Given the description of an element on the screen output the (x, y) to click on. 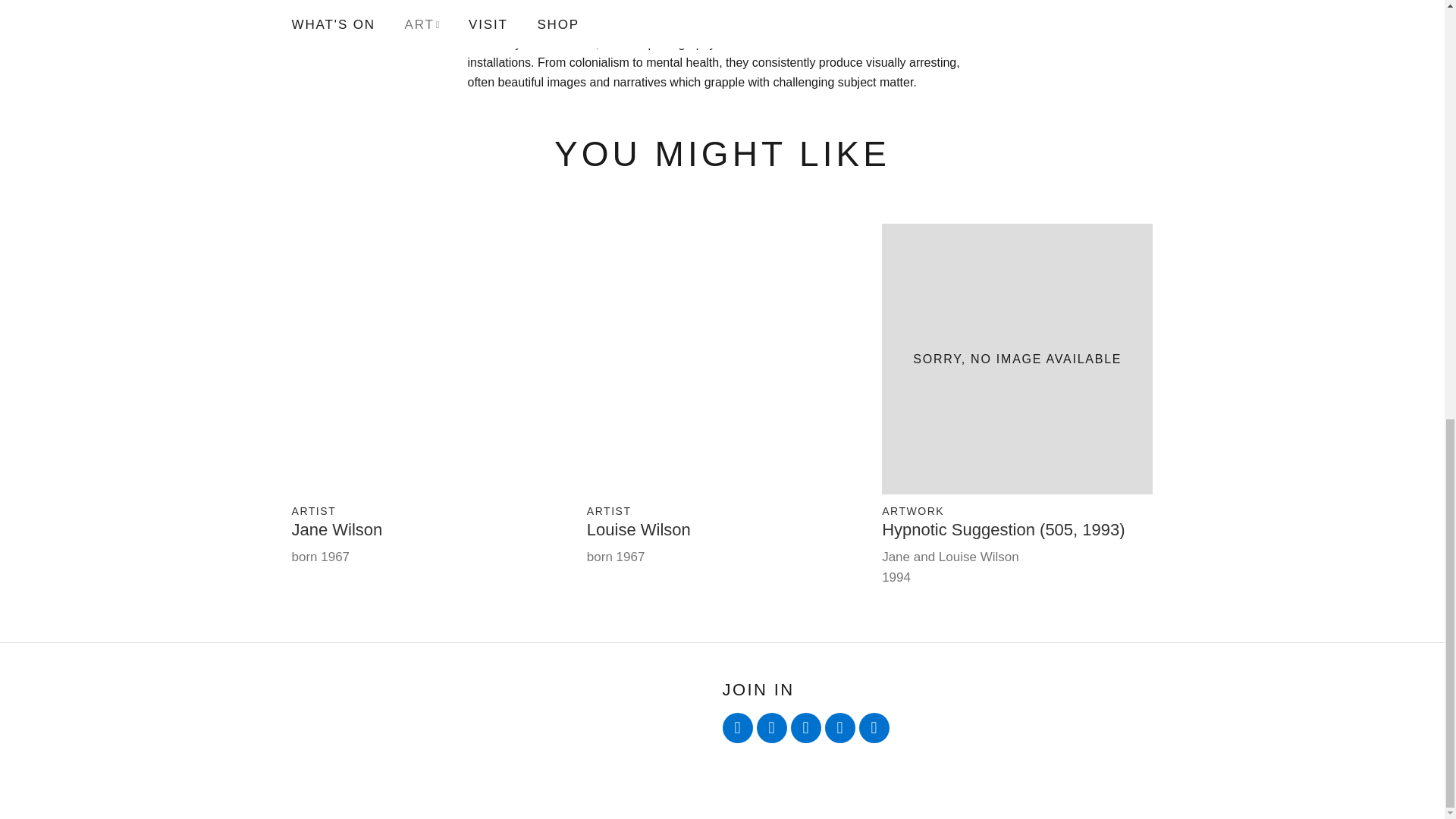
Twitter (737, 727)
Youtube (805, 727)
Pinterest (873, 727)
Instagram (840, 727)
Facebook (772, 727)
